Given the description of an element on the screen output the (x, y) to click on. 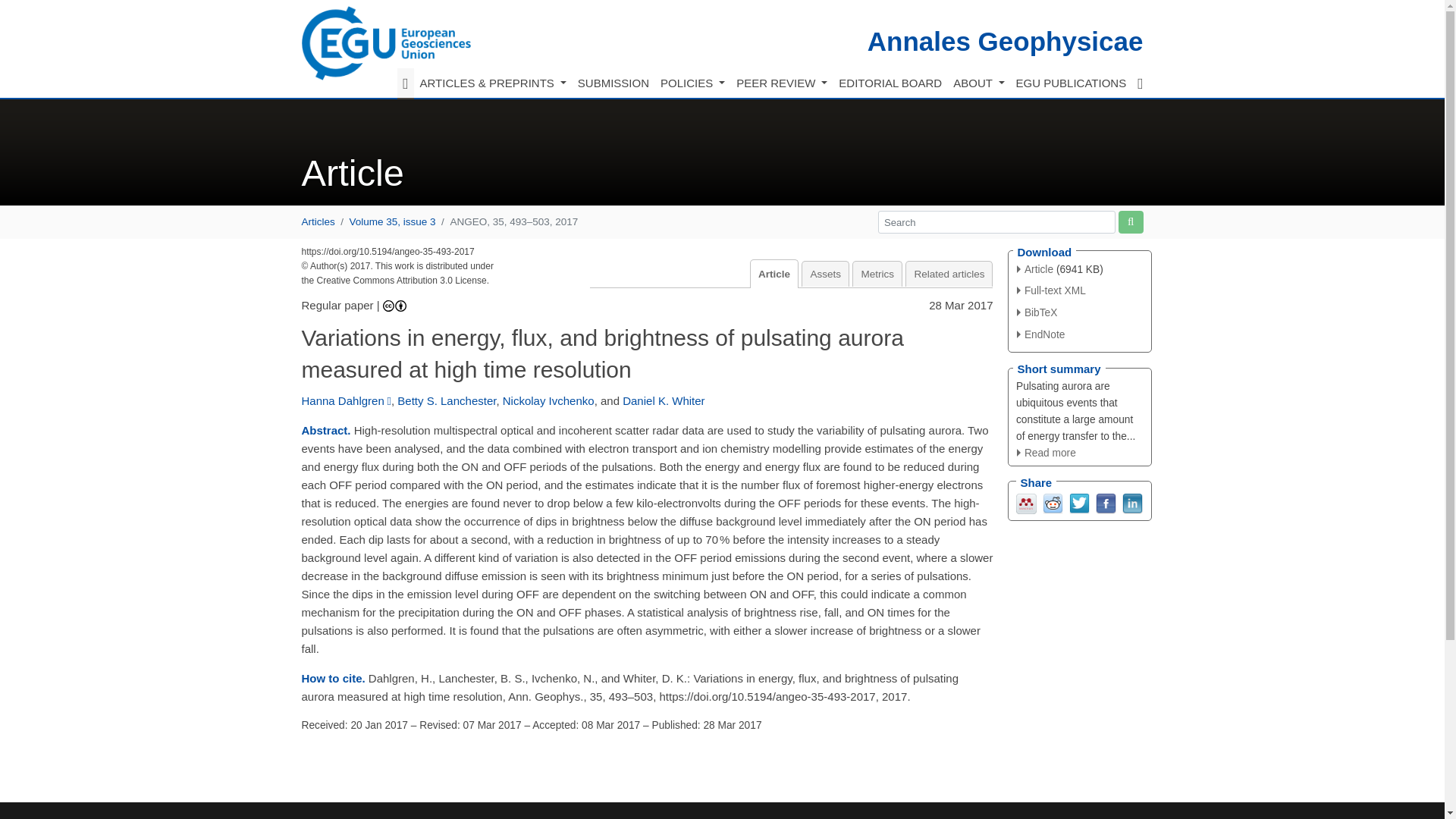
POLICIES (691, 83)
Twitter (1078, 502)
XML Version (1051, 290)
Start site search (1130, 221)
EDITORIAL BOARD (889, 83)
Facebook (1104, 502)
PEER REVIEW (781, 83)
Annales Geophysicae (1004, 41)
Reddit (1052, 502)
SUBMISSION (612, 83)
Mendeley (1026, 502)
